Given the description of an element on the screen output the (x, y) to click on. 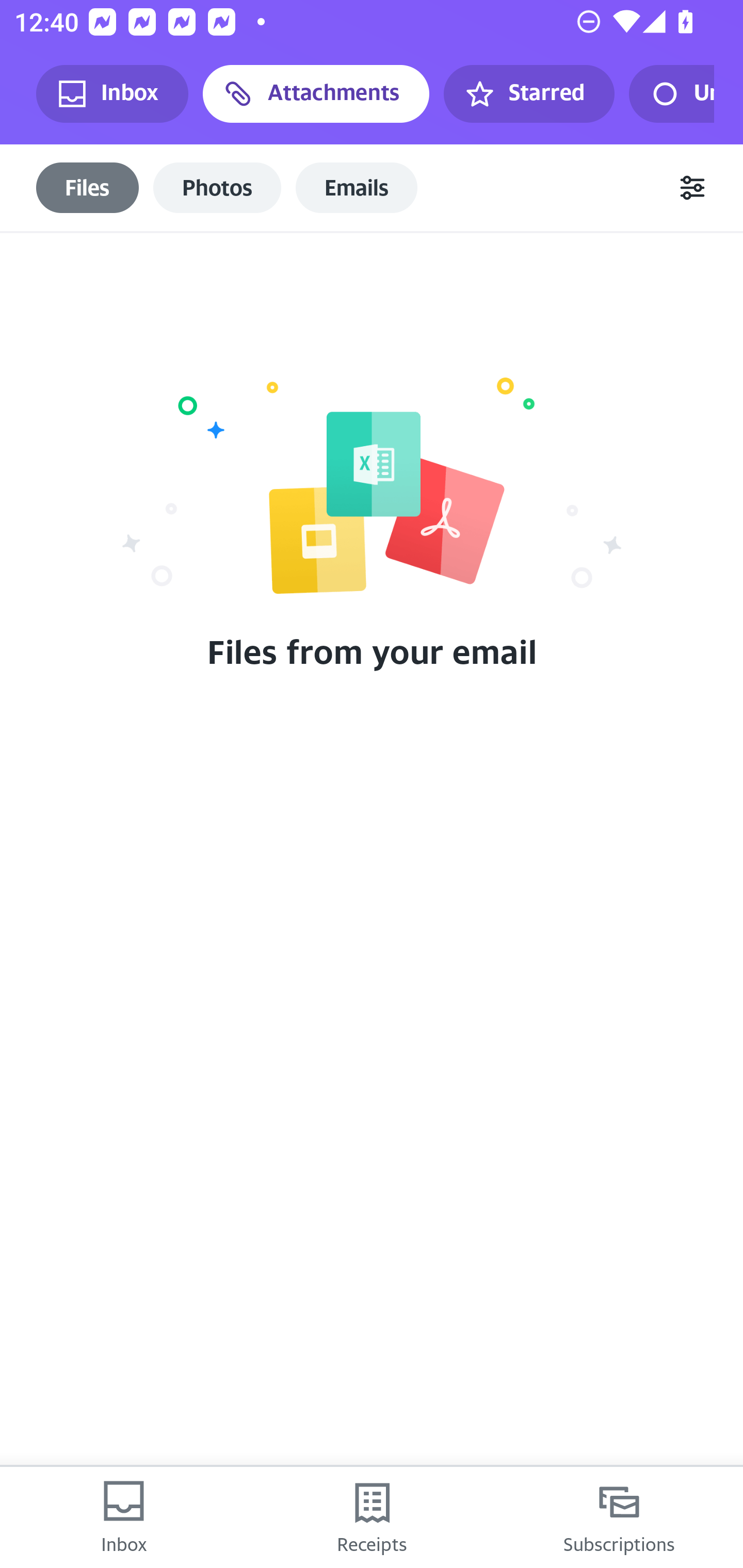
Inbox (111, 93)
Starred (528, 93)
Unread (671, 93)
Show or hide more attachment filters (692, 187)
Files (87, 188)
Photos (216, 188)
Emails (356, 188)
Inbox (123, 1517)
Receipts (371, 1517)
Subscriptions (619, 1517)
